Given the description of an element on the screen output the (x, y) to click on. 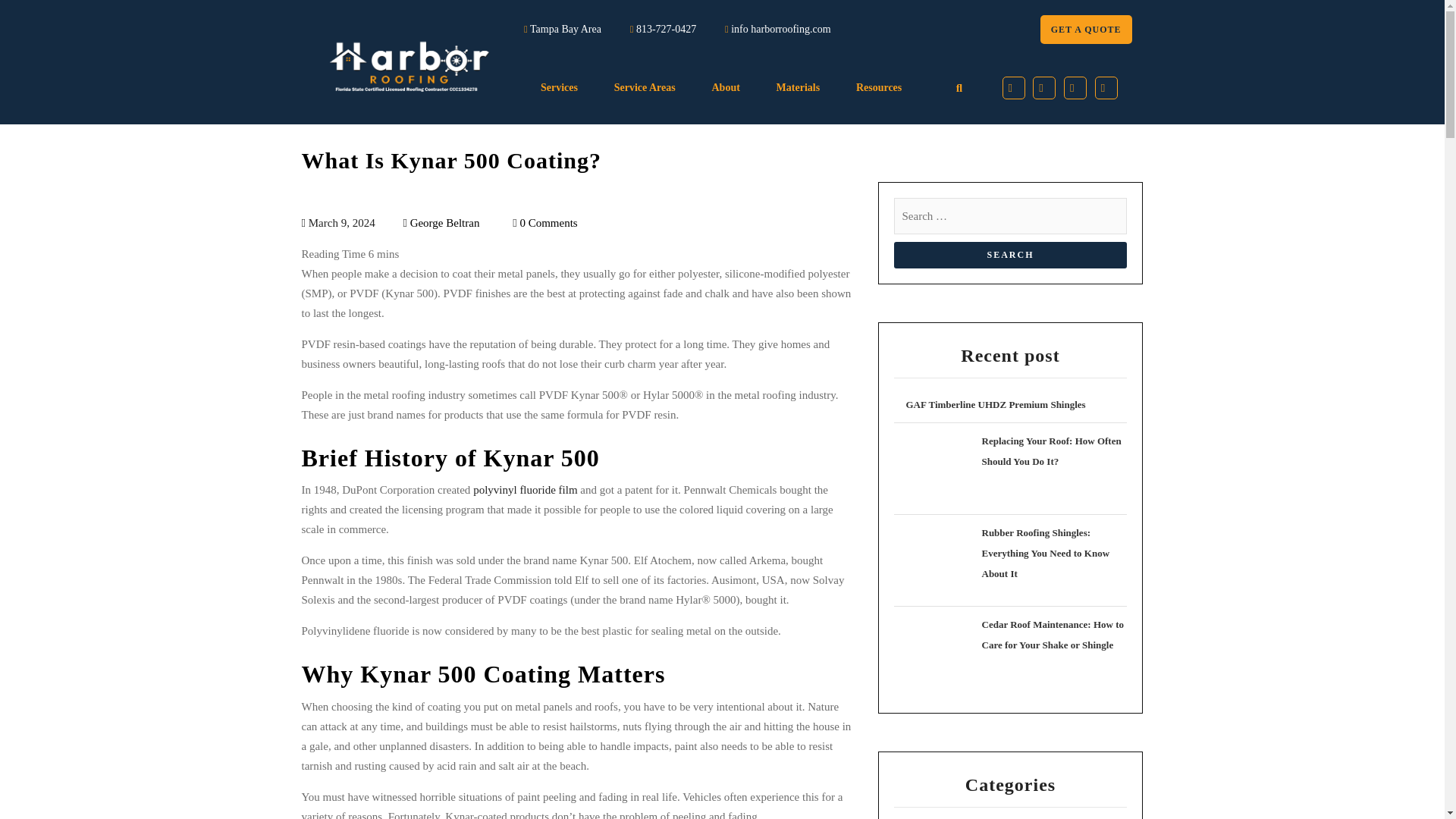
GET A QUOTE (1086, 29)
Service Areas (644, 87)
Search (1009, 254)
Search (1009, 254)
